Given the description of an element on the screen output the (x, y) to click on. 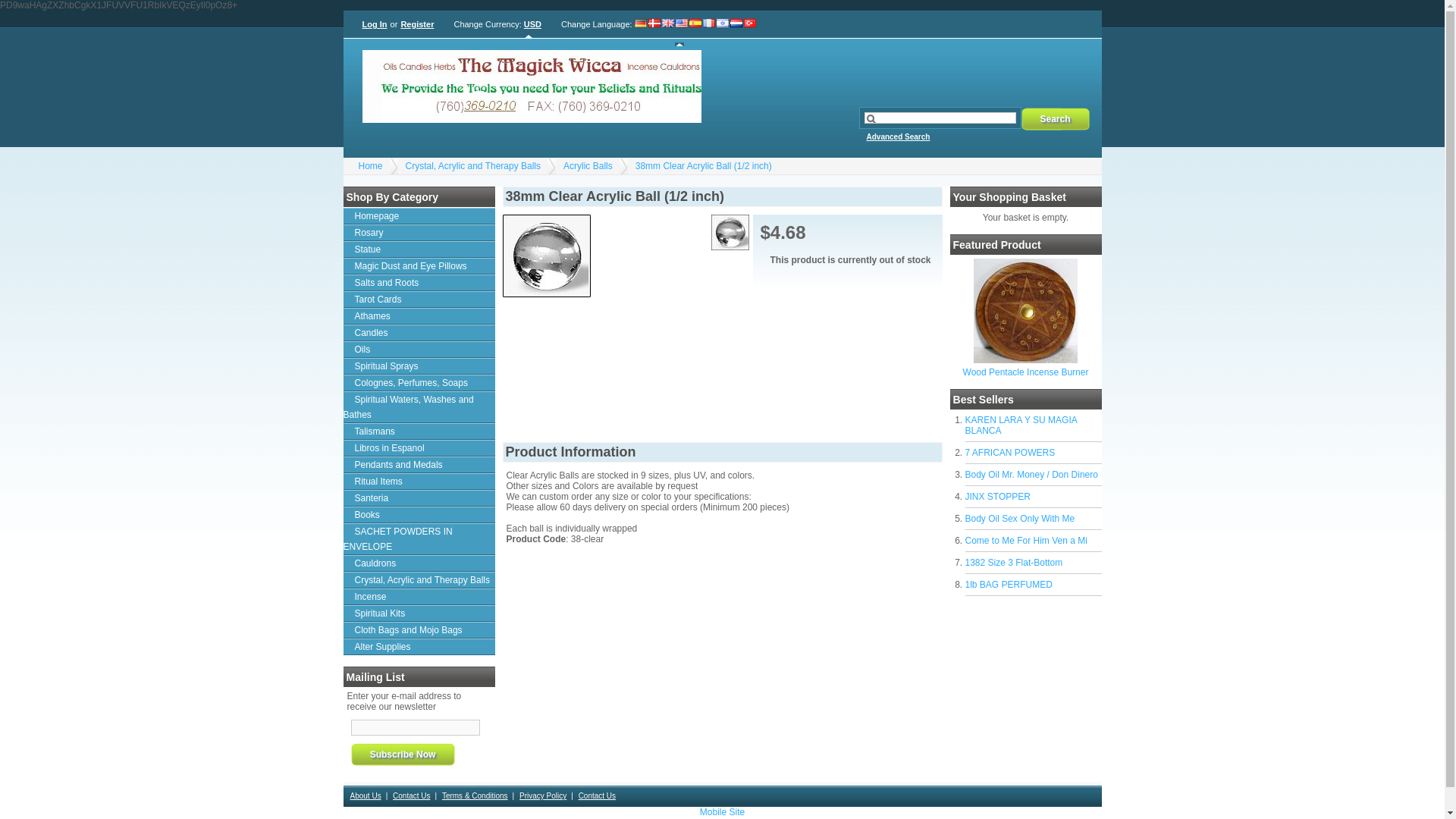
Athames (418, 315)
Magic Dust and Eye Pillows (418, 265)
Rosary (418, 232)
Homepage (418, 216)
Magic Dust and Eye Pillows (418, 265)
Salts and Roots (418, 282)
Register (415, 23)
Advanced Search (897, 144)
Subscribe Now (402, 753)
Tarot Cards (418, 299)
Search (1054, 118)
Tarot Cards (418, 299)
Athames (418, 315)
Search our store (940, 117)
Statue (418, 248)
